Given the description of an element on the screen output the (x, y) to click on. 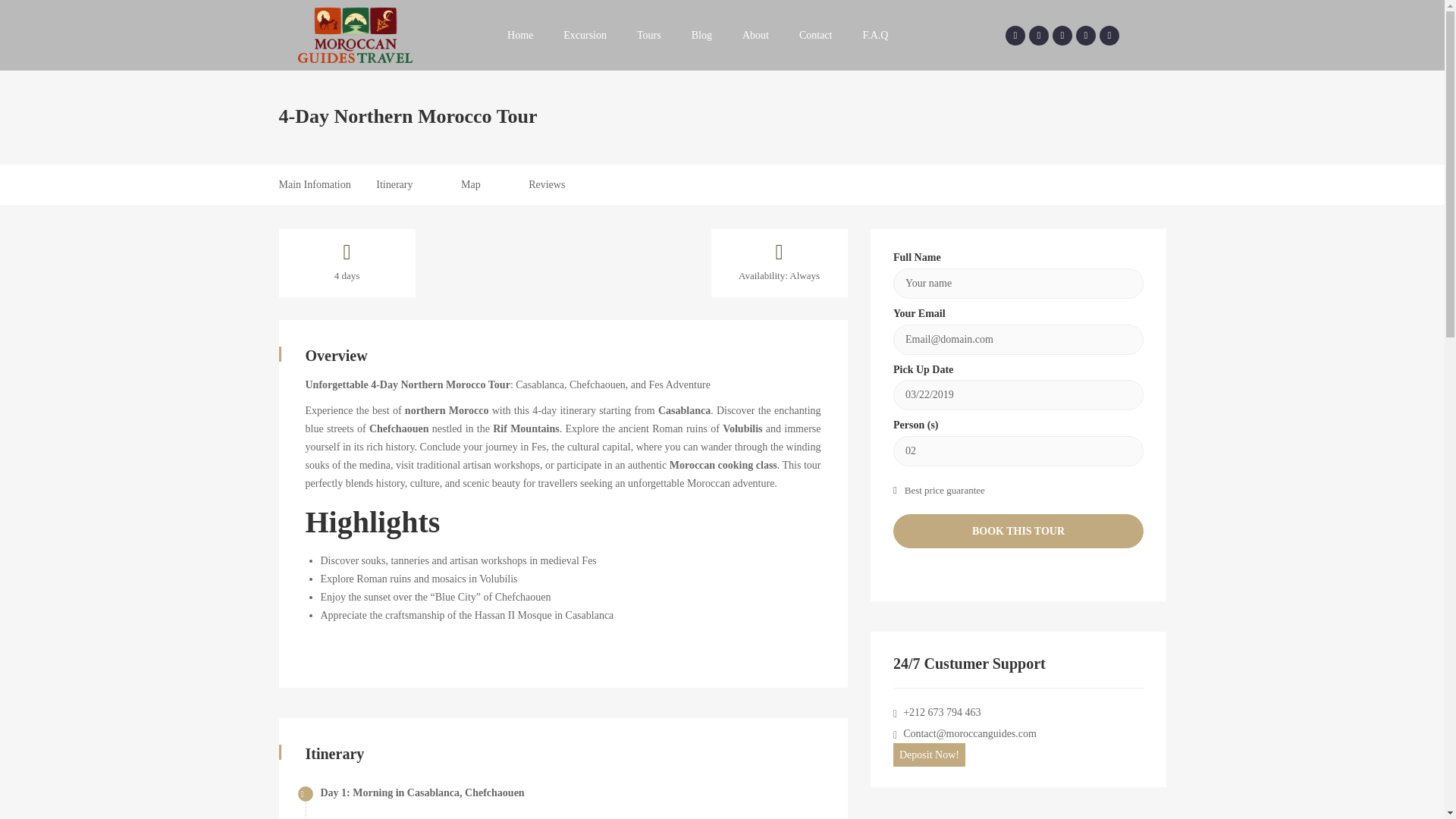
About (755, 35)
Home (520, 35)
F.A.Q (874, 35)
BOOK THIS TOUR (1017, 530)
Blog (701, 35)
Excursion (584, 35)
Contact (815, 35)
Tours (649, 35)
